Given the description of an element on the screen output the (x, y) to click on. 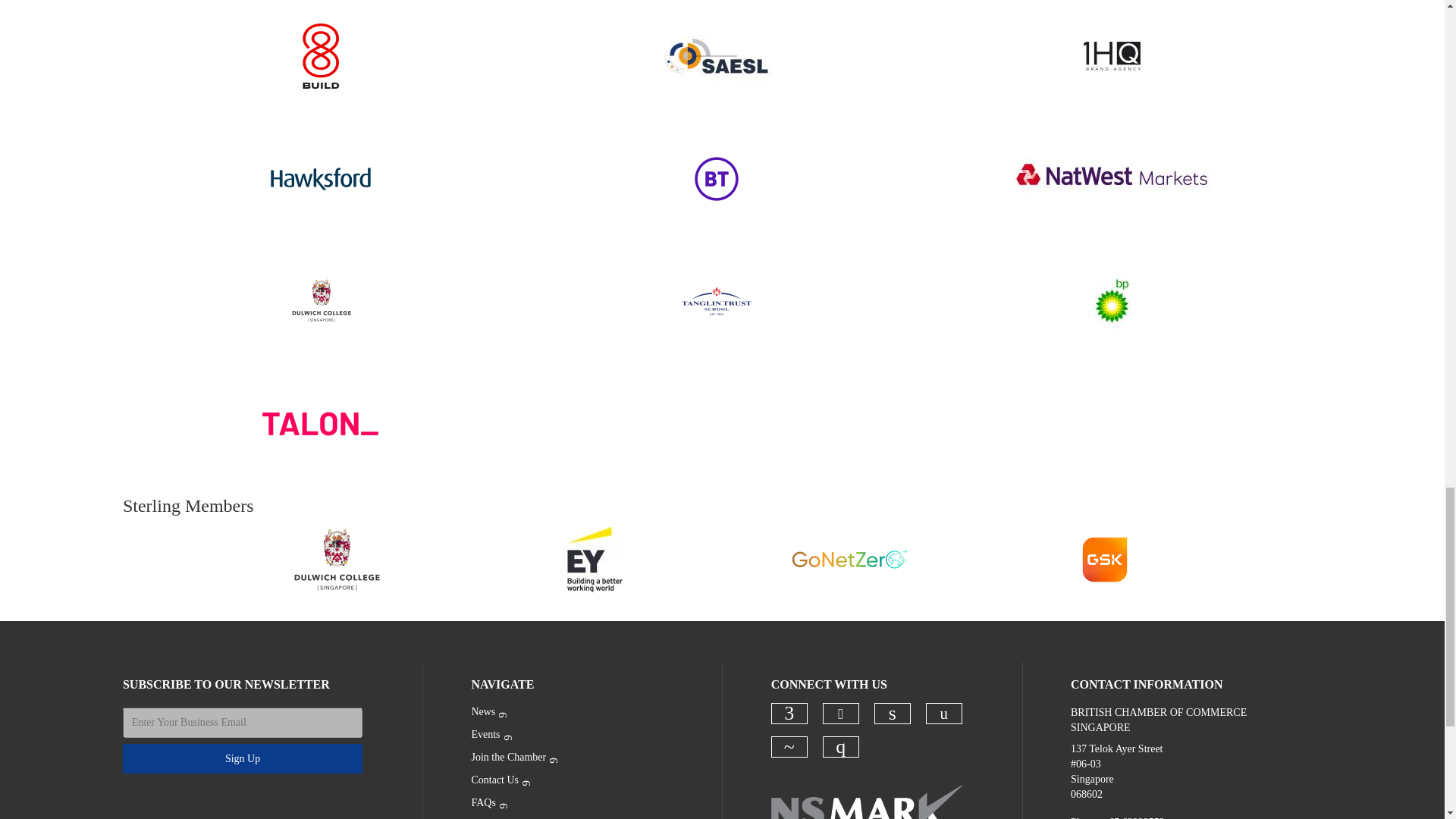
Press Centre (566, 816)
